Given the description of an element on the screen output the (x, y) to click on. 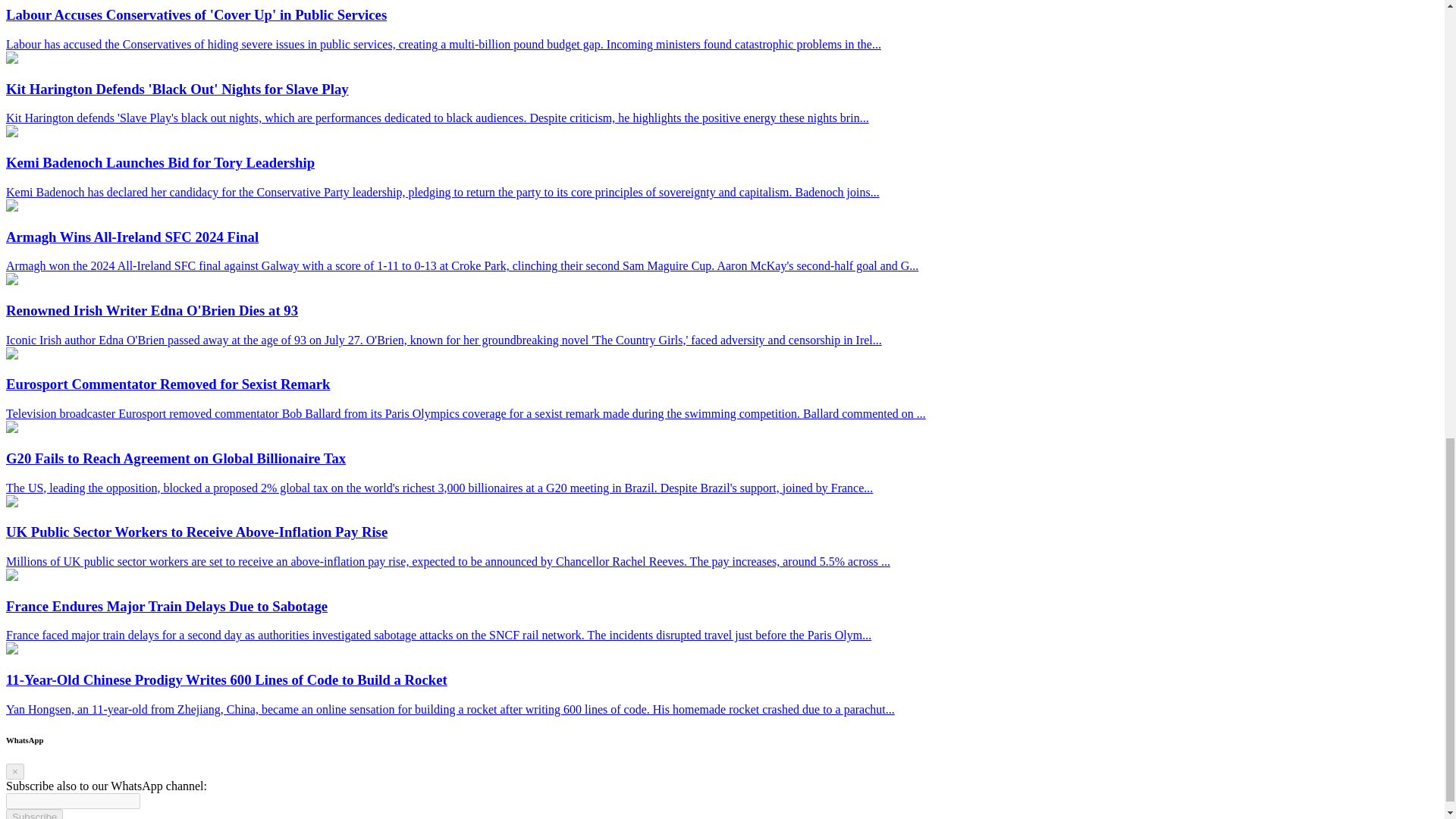
Renowned Irish Writer Edna O'Brien Dies at 93 (11, 280)
Armagh Wins All-Ireland SFC 2024 Final (11, 206)
Kemi Badenoch Launches Bid for Tory Leadership (11, 132)
G20 Fails to Reach Agreement on Global Billionaire Tax (11, 428)
Kit Harington Defends 'Black Out' Nights for Slave Play (11, 59)
UK Public Sector Workers to Receive Above-Inflation Pay Rise (11, 502)
Eurosport Commentator Removed for Sexist Remark (11, 354)
